Given the description of an element on the screen output the (x, y) to click on. 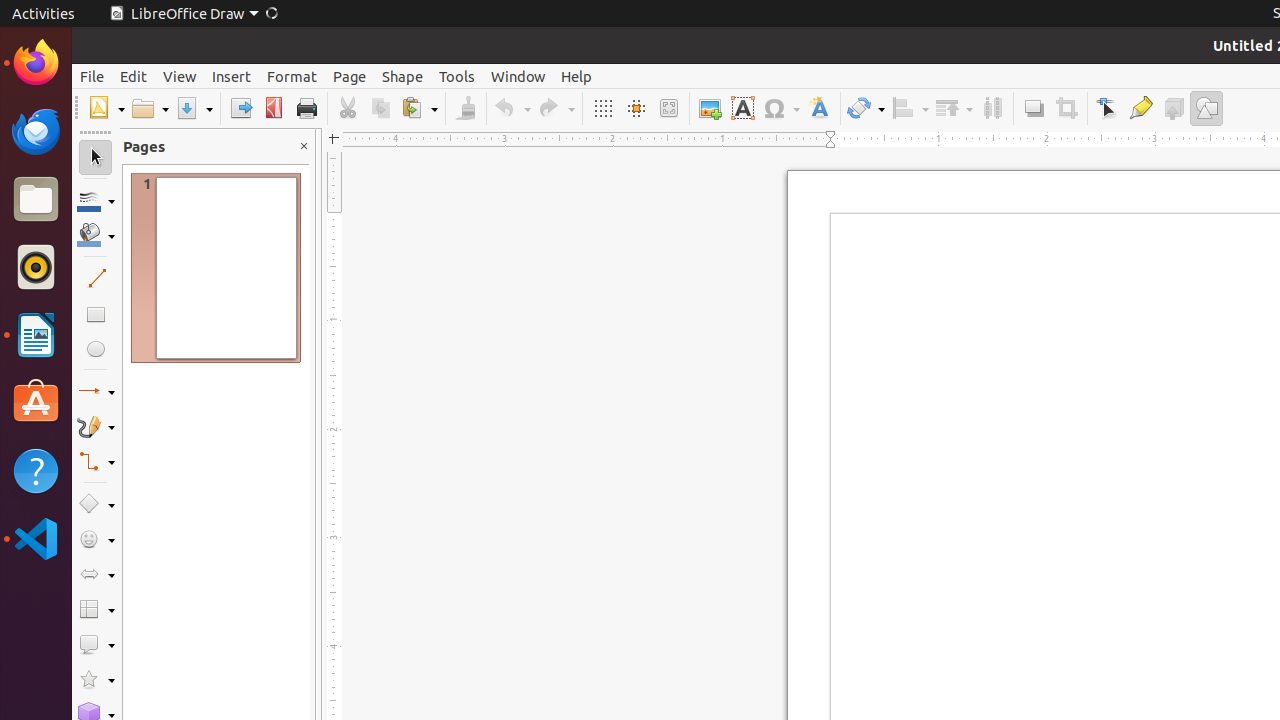
Lines and Arrows Element type: push-button (96, 391)
Close Pane Element type: push-button (303, 146)
Basic Shapes Element type: push-button (96, 504)
Zoom & Pan Element type: push-button (668, 108)
